Given the description of an element on the screen output the (x, y) to click on. 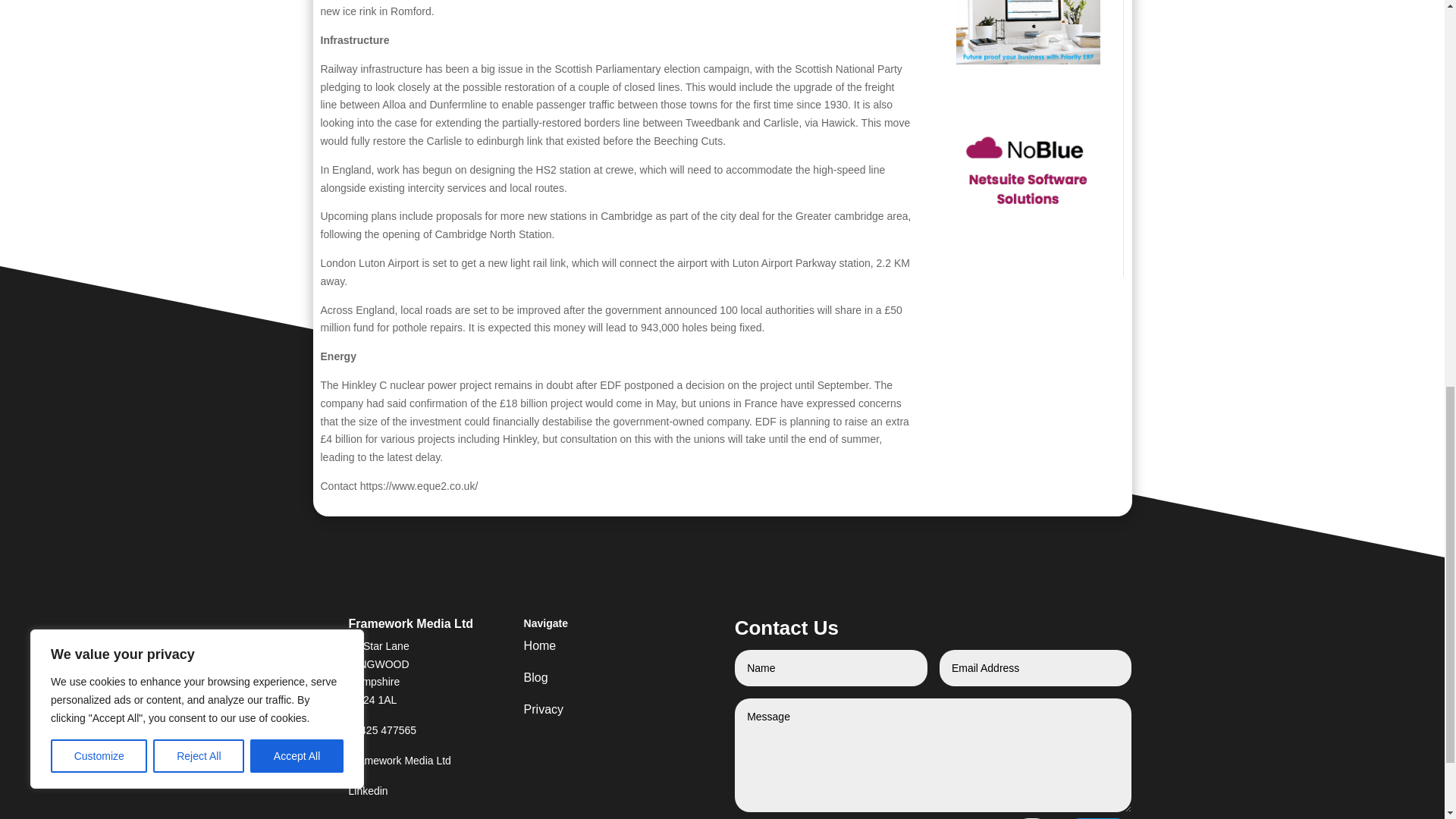
Send (1098, 818)
Home (588, 648)
Privacy (588, 712)
Blog (588, 680)
